Given the description of an element on the screen output the (x, y) to click on. 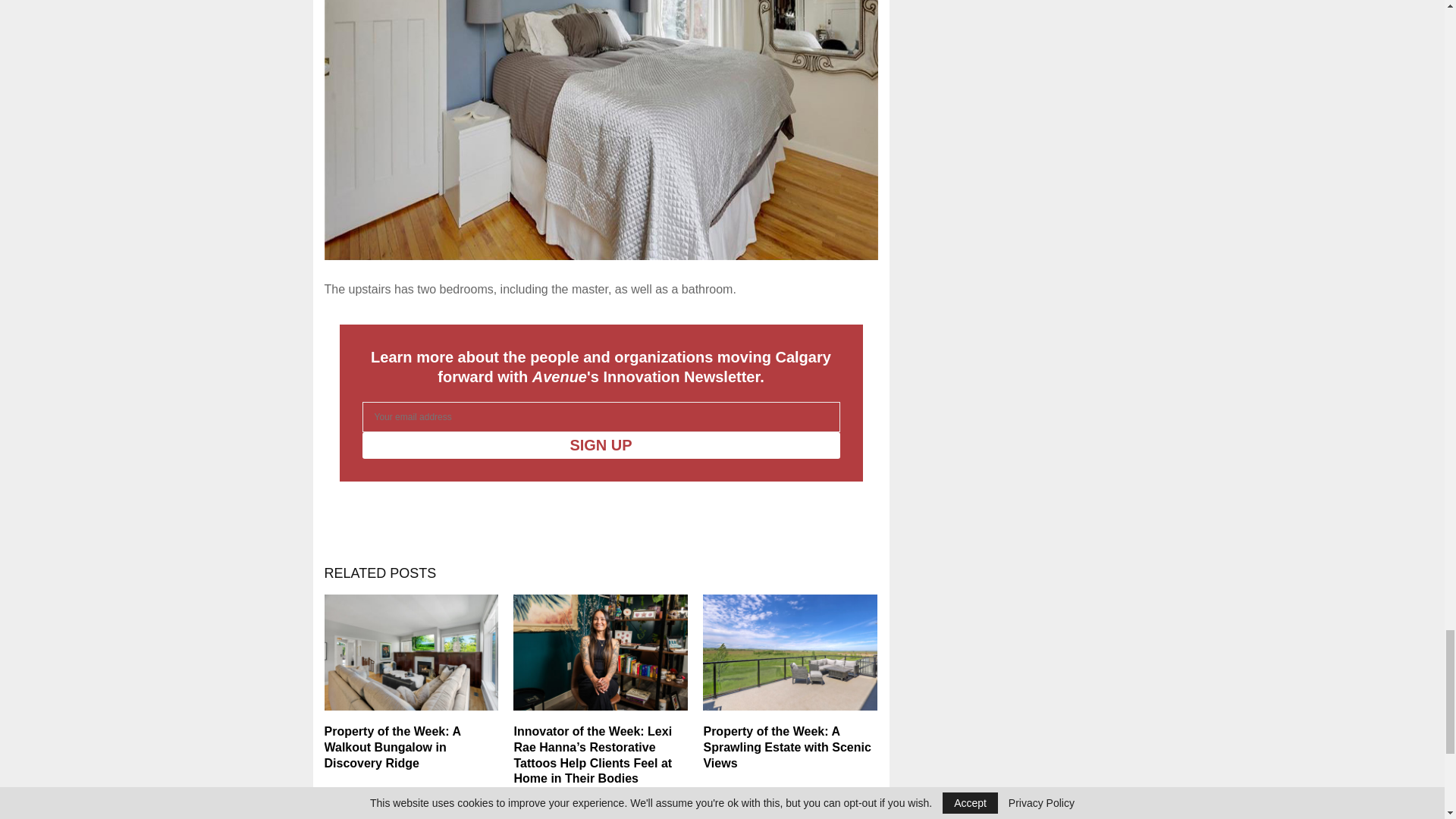
Sign up (601, 445)
